Given the description of an element on the screen output the (x, y) to click on. 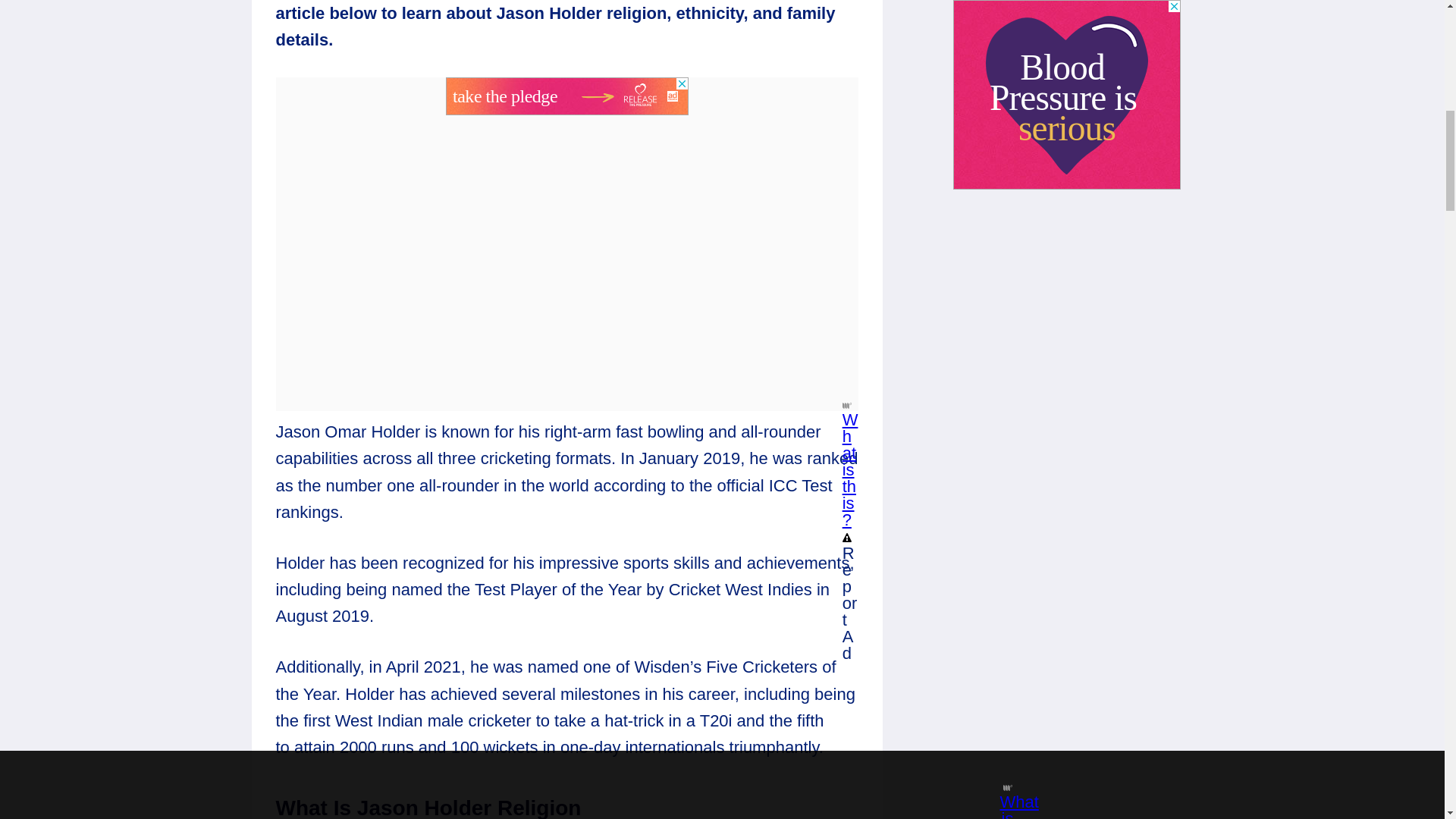
3rd party ad content (566, 95)
